Given the description of an element on the screen output the (x, y) to click on. 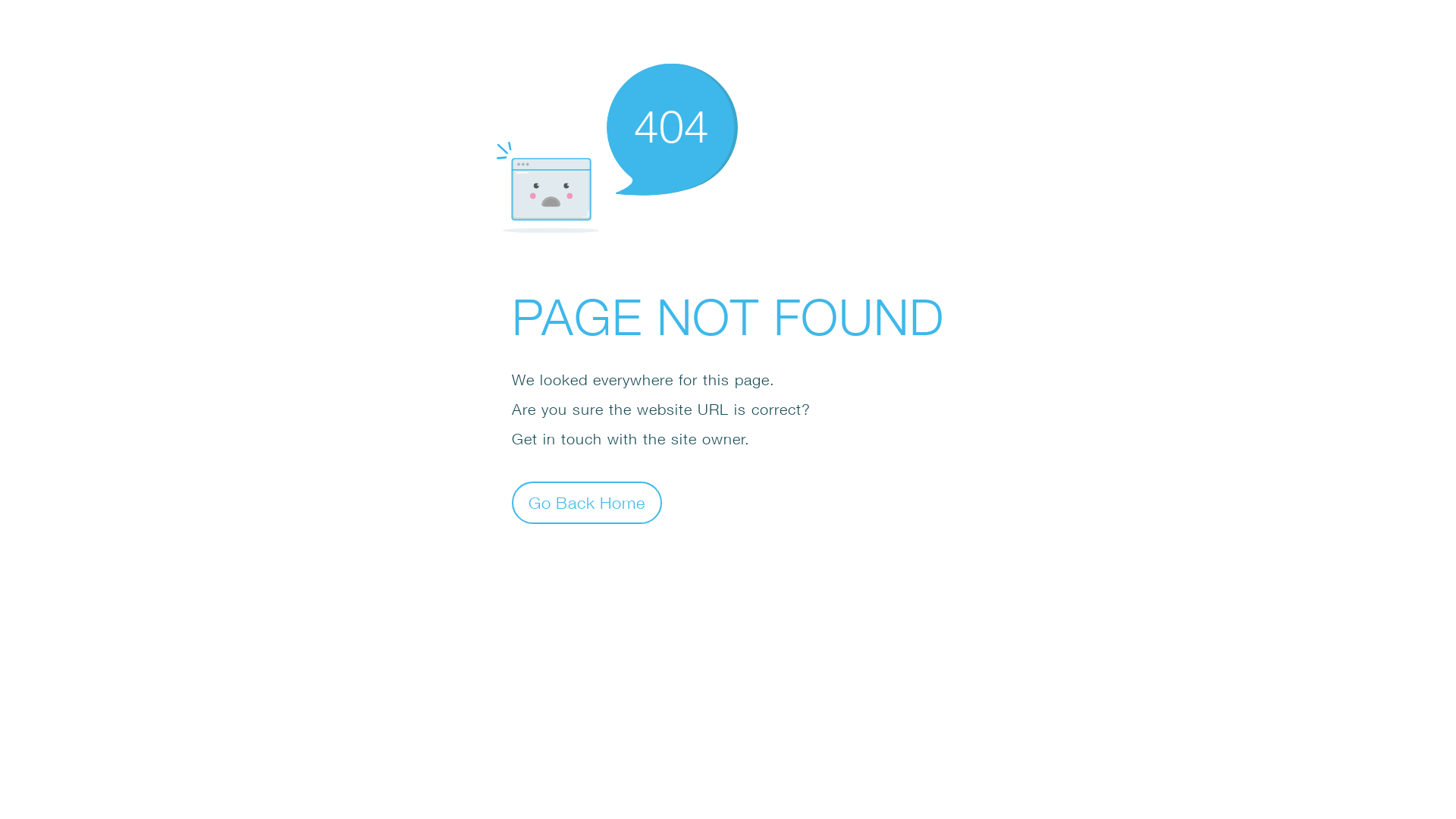
Go Back Home Element type: text (586, 502)
